Given the description of an element on the screen output the (x, y) to click on. 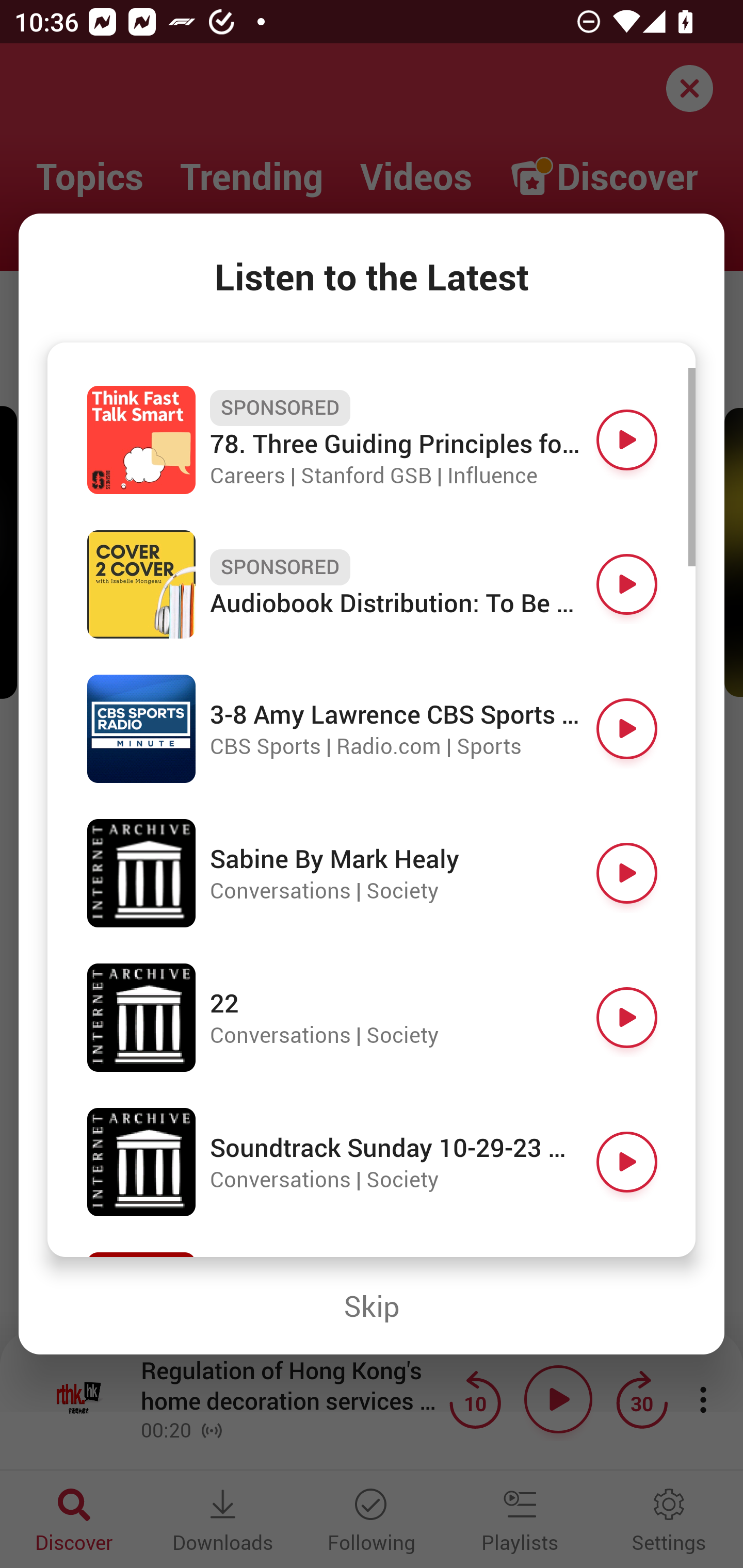
22 Conversations | Society Play button (371, 1017)
Skip (371, 1305)
